Given the description of an element on the screen output the (x, y) to click on. 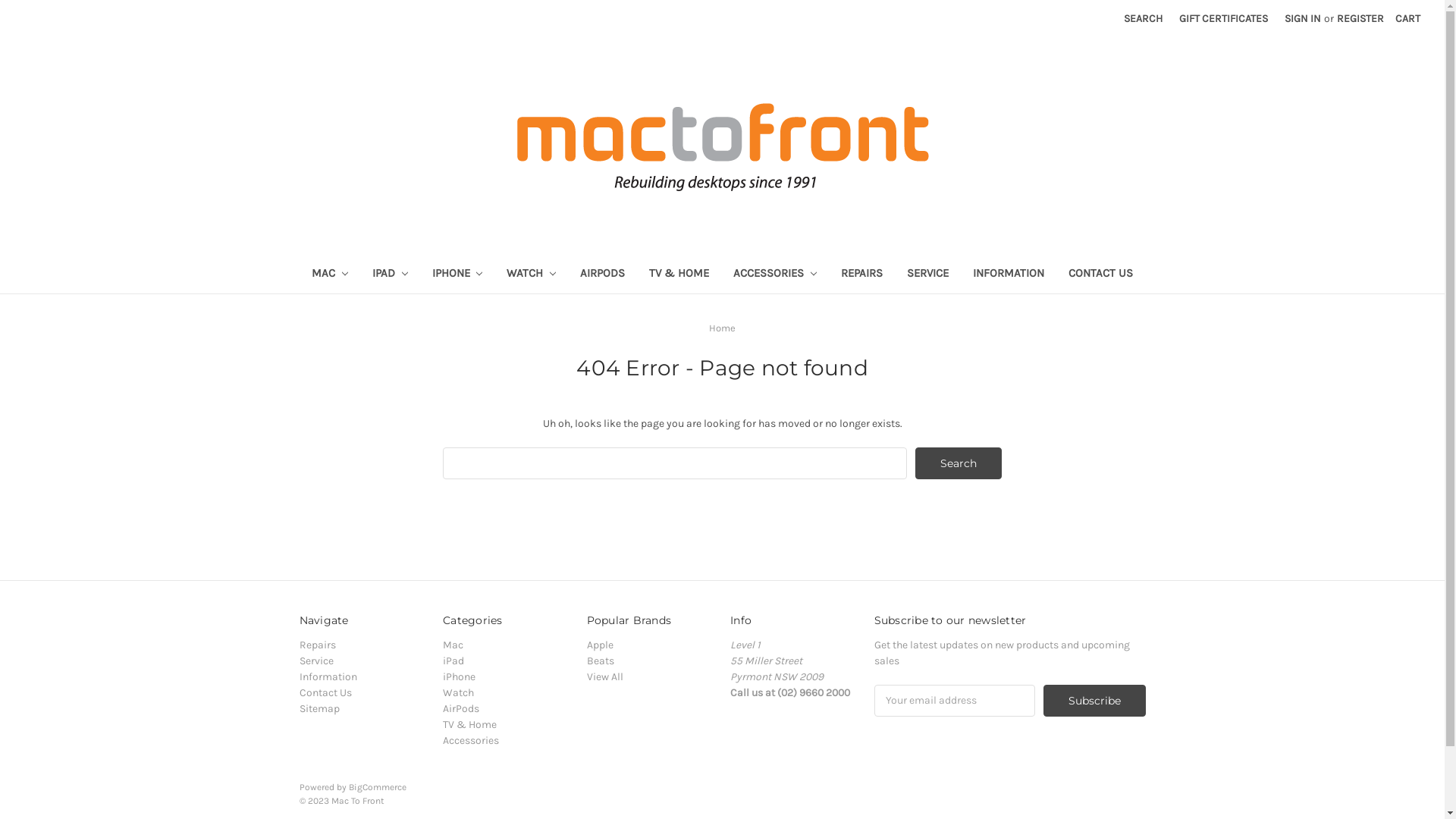
Beats Element type: text (600, 660)
WATCH Element type: text (530, 274)
GIFT CERTIFICATES Element type: text (1223, 18)
Watch Element type: text (457, 692)
View All Element type: text (604, 676)
Home Element type: text (722, 327)
SERVICE Element type: text (927, 274)
IPHONE Element type: text (457, 274)
AirPods Element type: text (460, 708)
AIRPODS Element type: text (602, 274)
SEARCH Element type: text (1142, 18)
IPAD Element type: text (390, 274)
TV & Home Element type: text (469, 724)
Contact Us Element type: text (324, 692)
REGISTER Element type: text (1360, 18)
Information Element type: text (327, 676)
INFORMATION Element type: text (1008, 274)
Apple Element type: text (599, 644)
Search Element type: text (958, 463)
Service Element type: text (315, 660)
ACCESSORIES Element type: text (774, 274)
Subscribe Element type: text (1094, 700)
CONTACT US Element type: text (1100, 274)
Accessories Element type: text (470, 740)
Repairs Element type: text (316, 644)
iPad Element type: text (453, 660)
Sitemap Element type: text (318, 708)
REPAIRS Element type: text (861, 274)
iPhone Element type: text (458, 676)
MAC Element type: text (329, 274)
Mac Element type: text (452, 644)
CART Element type: text (1407, 18)
TV & HOME Element type: text (679, 274)
SIGN IN Element type: text (1302, 18)
BigCommerce Element type: text (377, 786)
Mac To Front Element type: hover (722, 143)
